Given the description of an element on the screen output the (x, y) to click on. 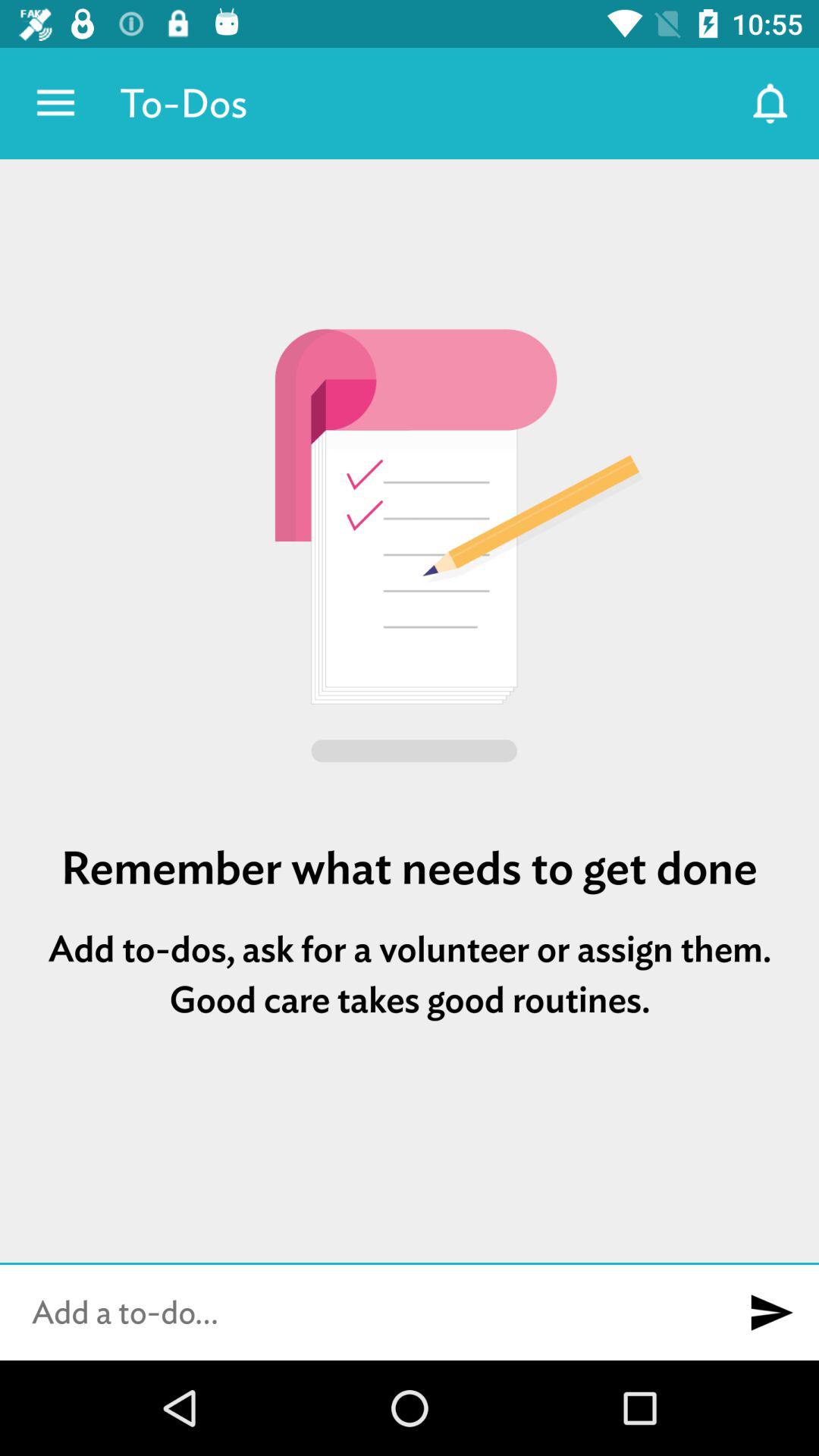
do do list text box (361, 1312)
